Given the description of an element on the screen output the (x, y) to click on. 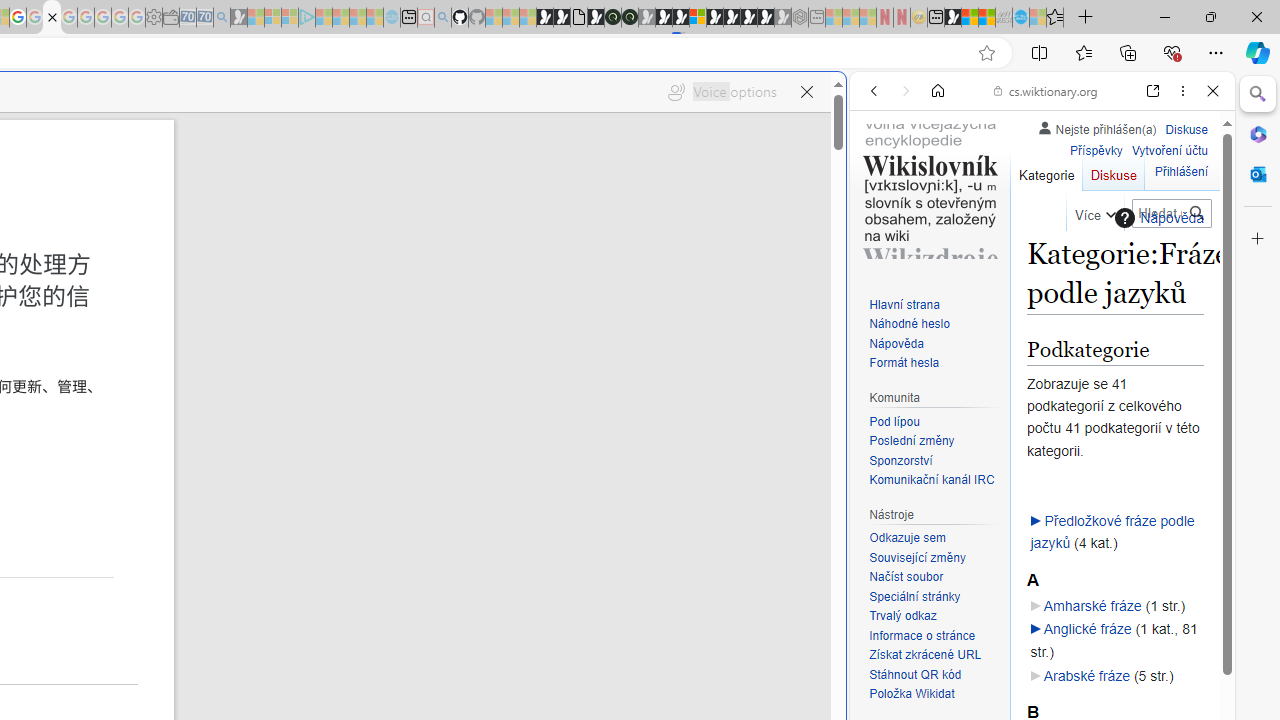
Play Cave FRVR in your browser | Games from Microsoft Start (663, 17)
MSN (952, 17)
Frequently visited (418, 265)
Bing Real Estate - Home sales and rental listings - Sleeping (221, 17)
Open link in new tab (1153, 91)
Home | Sky Blue Bikes - Sky Blue Bikes (687, 426)
VIDEOS (1006, 228)
Microsoft Start Gaming - Sleeping (238, 17)
github - Search - Sleeping (442, 17)
